Given the description of an element on the screen output the (x, y) to click on. 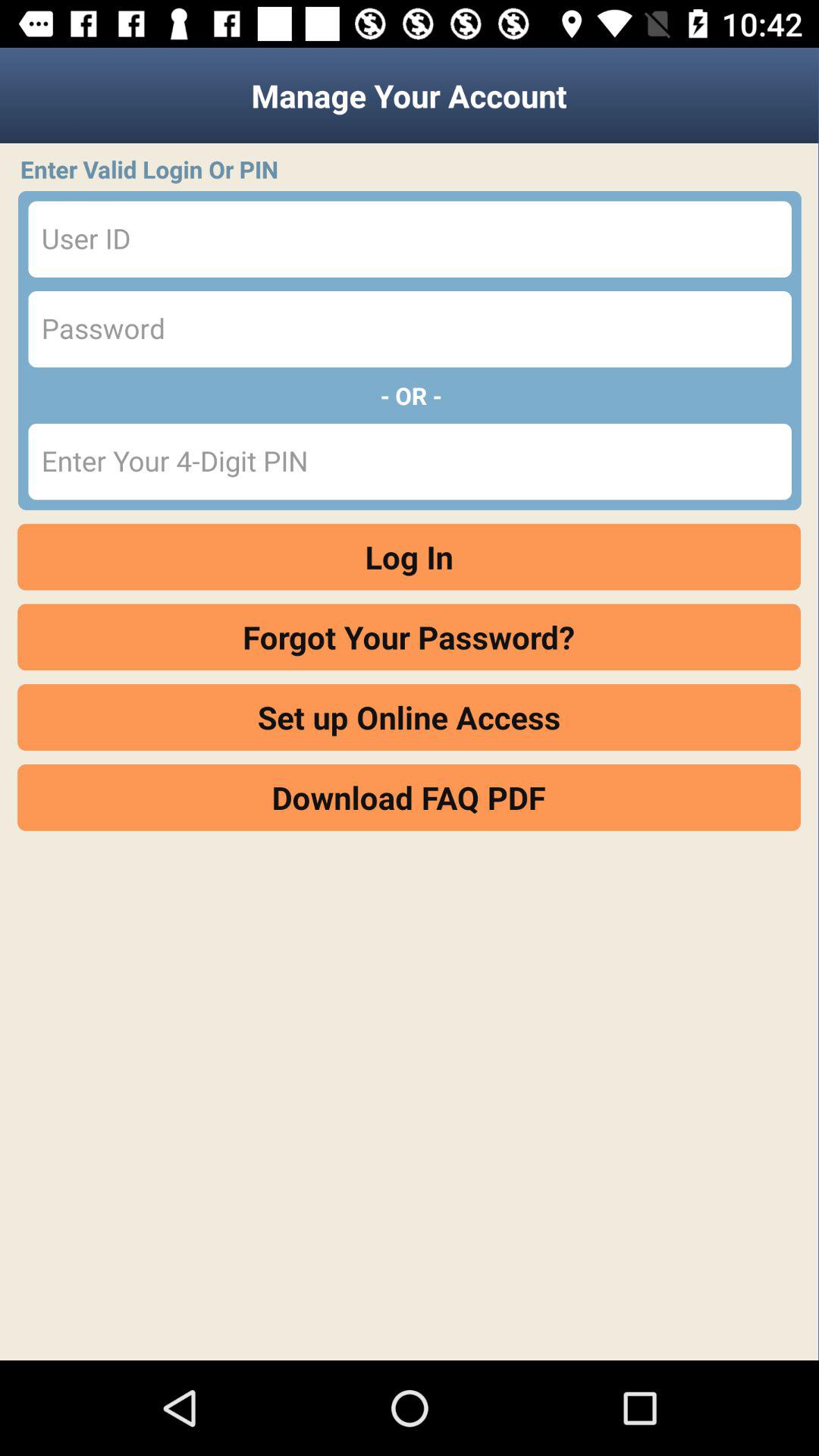
enter your 4-digit pin (409, 461)
